Given the description of an element on the screen output the (x, y) to click on. 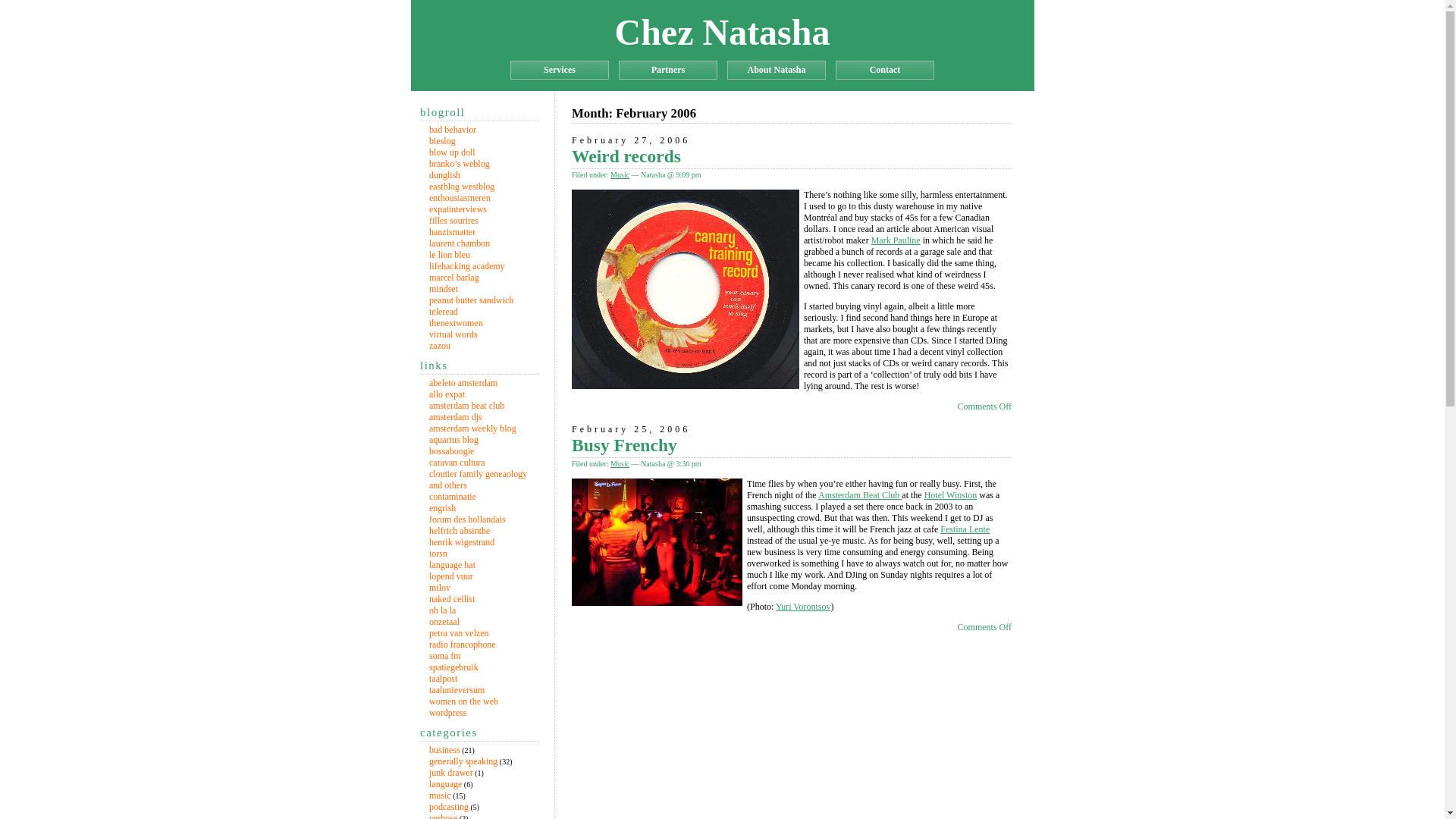
Contact (884, 69)
peanut butter sandwich (471, 299)
mindset (443, 288)
Mark Pauline (895, 240)
virtual words (453, 334)
amsterdam djs (455, 416)
allo expat (446, 394)
Amsterdam Beat Club (859, 494)
zazou (439, 345)
thenextwomen (456, 322)
amsterdam weekly blog (472, 428)
bad behavior (452, 129)
blow up doll (452, 152)
Hotel Winston (950, 494)
abeleto amsterdam (463, 382)
